Given the description of an element on the screen output the (x, y) to click on. 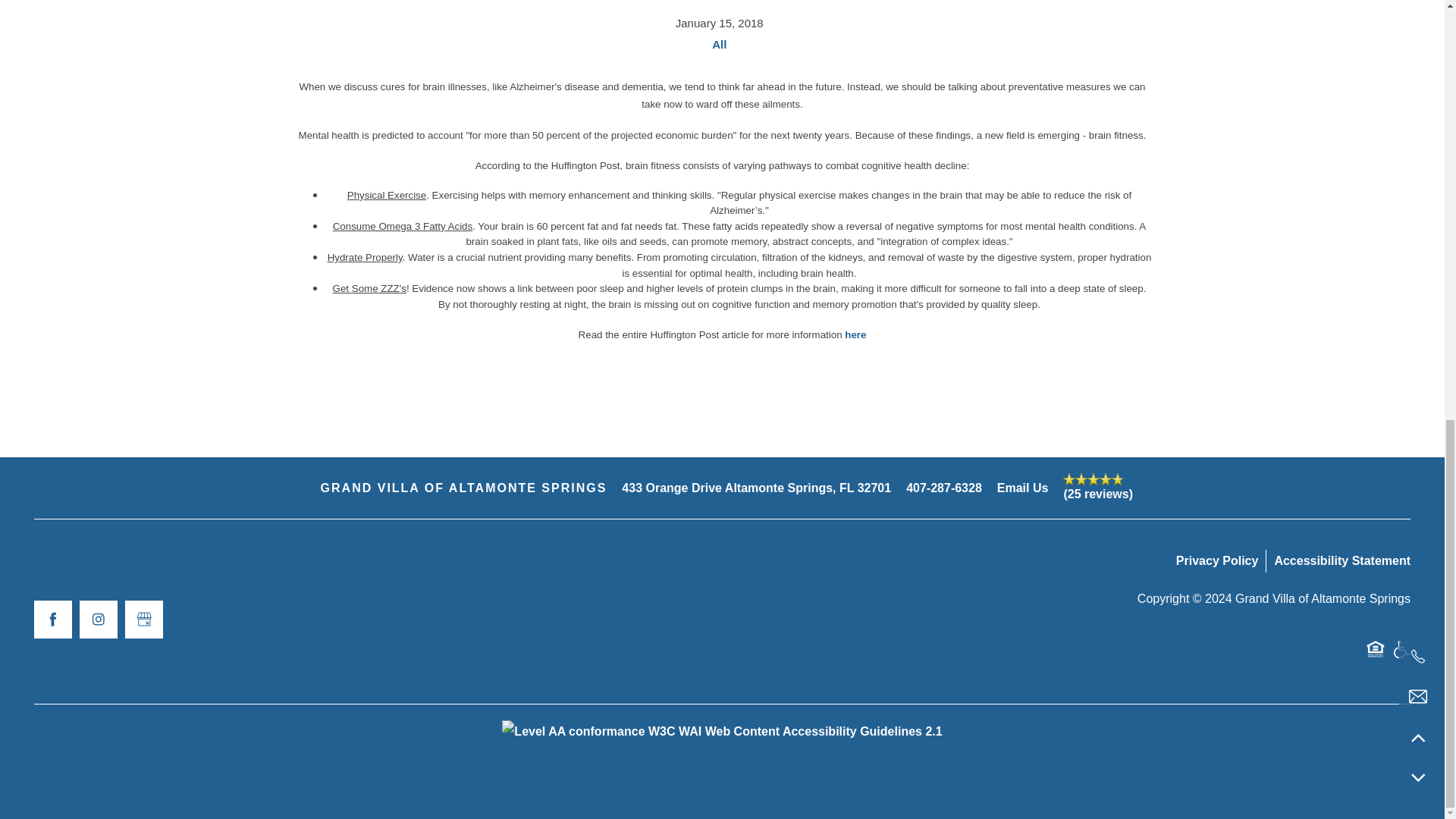
407-287-6328 (943, 488)
Email Us (1022, 488)
Property Phone Number (943, 488)
Instagram (98, 619)
All (719, 44)
Facebook (52, 619)
here (855, 334)
433 Orange Drive Altamonte Springs, FL 32701 (756, 488)
Google My Business (144, 619)
